Given the description of an element on the screen output the (x, y) to click on. 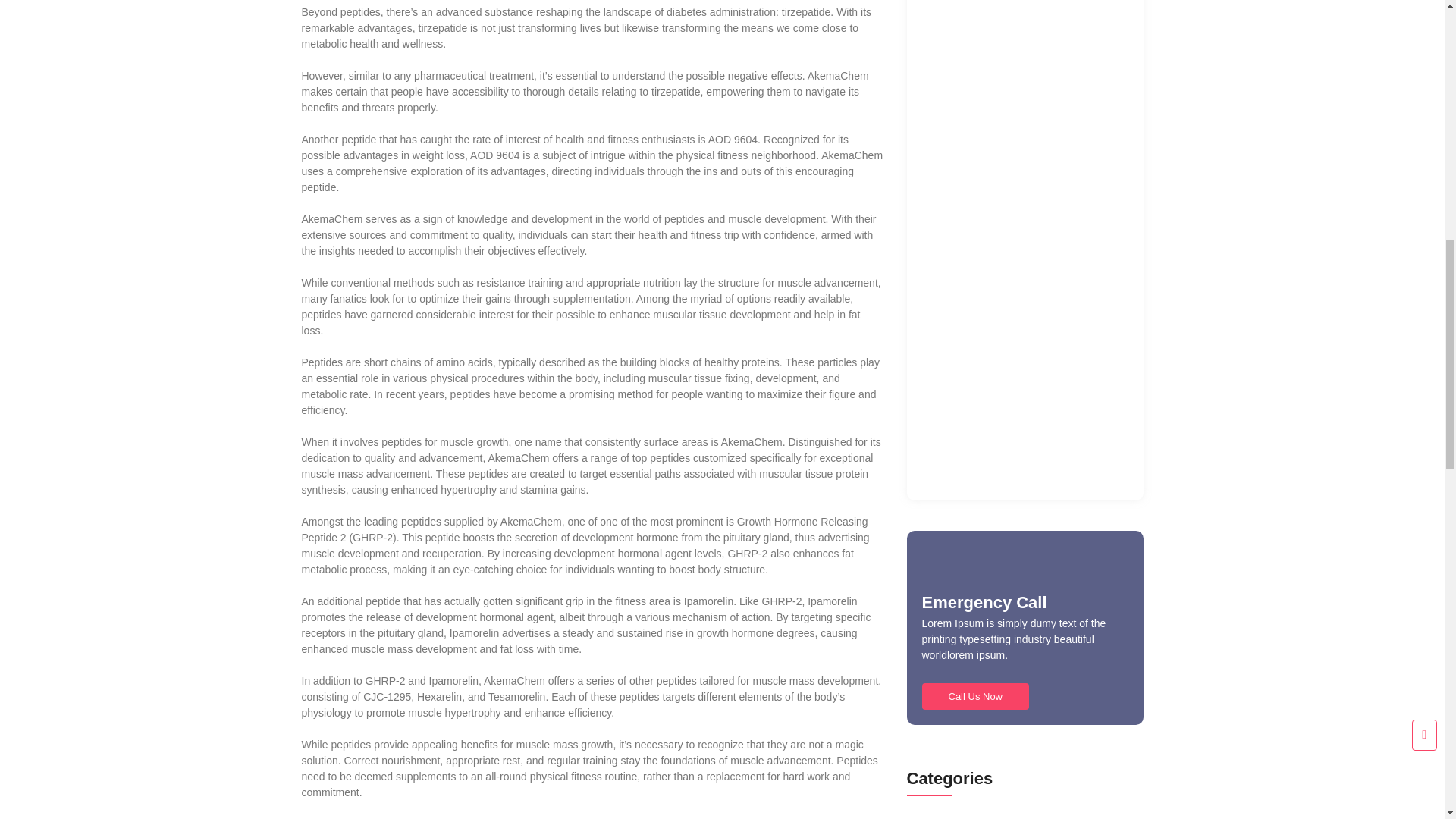
Call Us Now (975, 696)
